Given the description of an element on the screen output the (x, y) to click on. 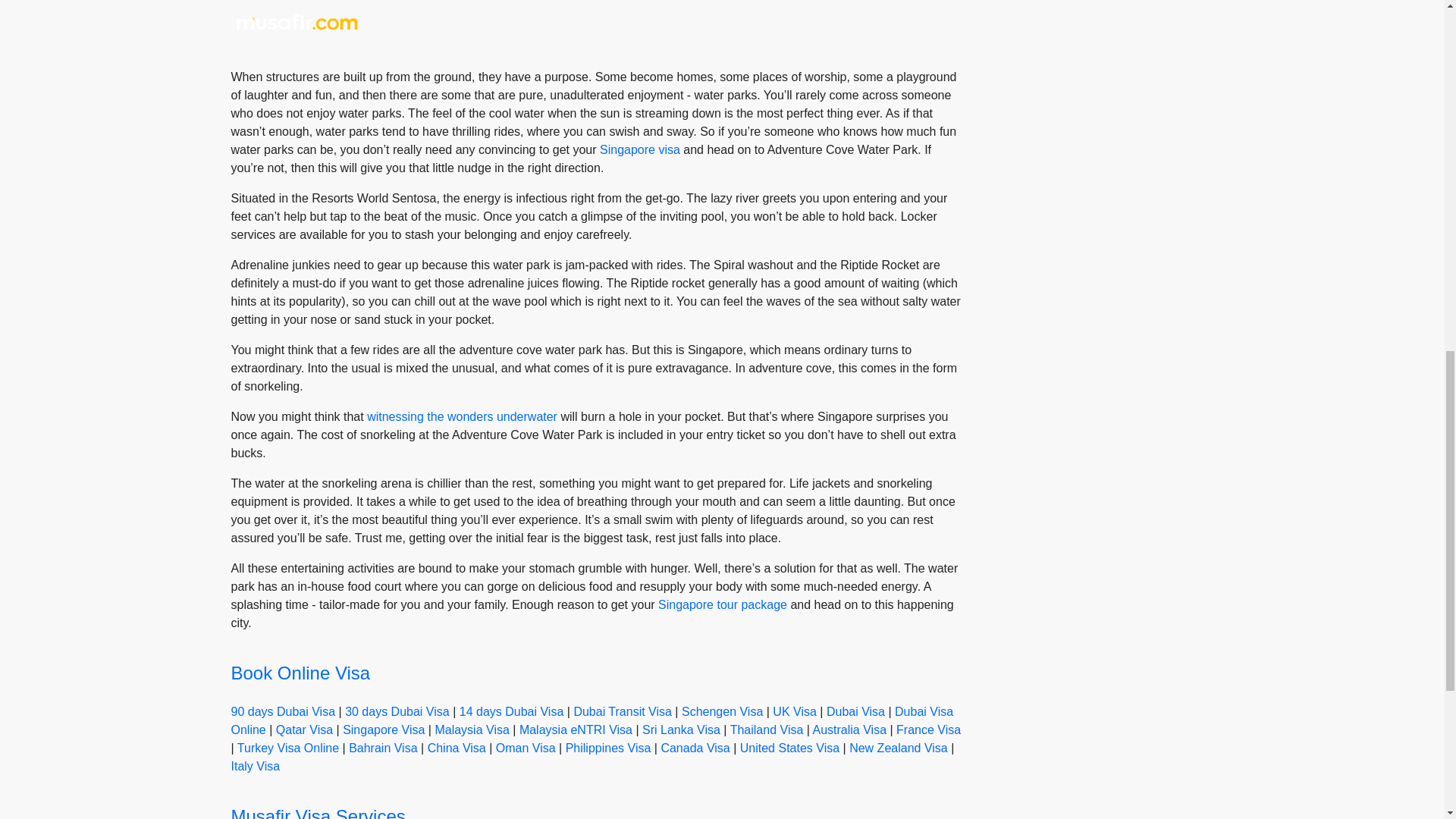
Thailand Visa (766, 729)
Musafir Visa Services (317, 812)
Book Online Visa (299, 672)
Dubai Visa (856, 711)
Qatar Visa (304, 729)
90 days Dubai Visa (282, 711)
China Visa (457, 748)
France Visa (928, 729)
Canada Visa (695, 748)
Sri Lanka Visa (681, 729)
